Given the description of an element on the screen output the (x, y) to click on. 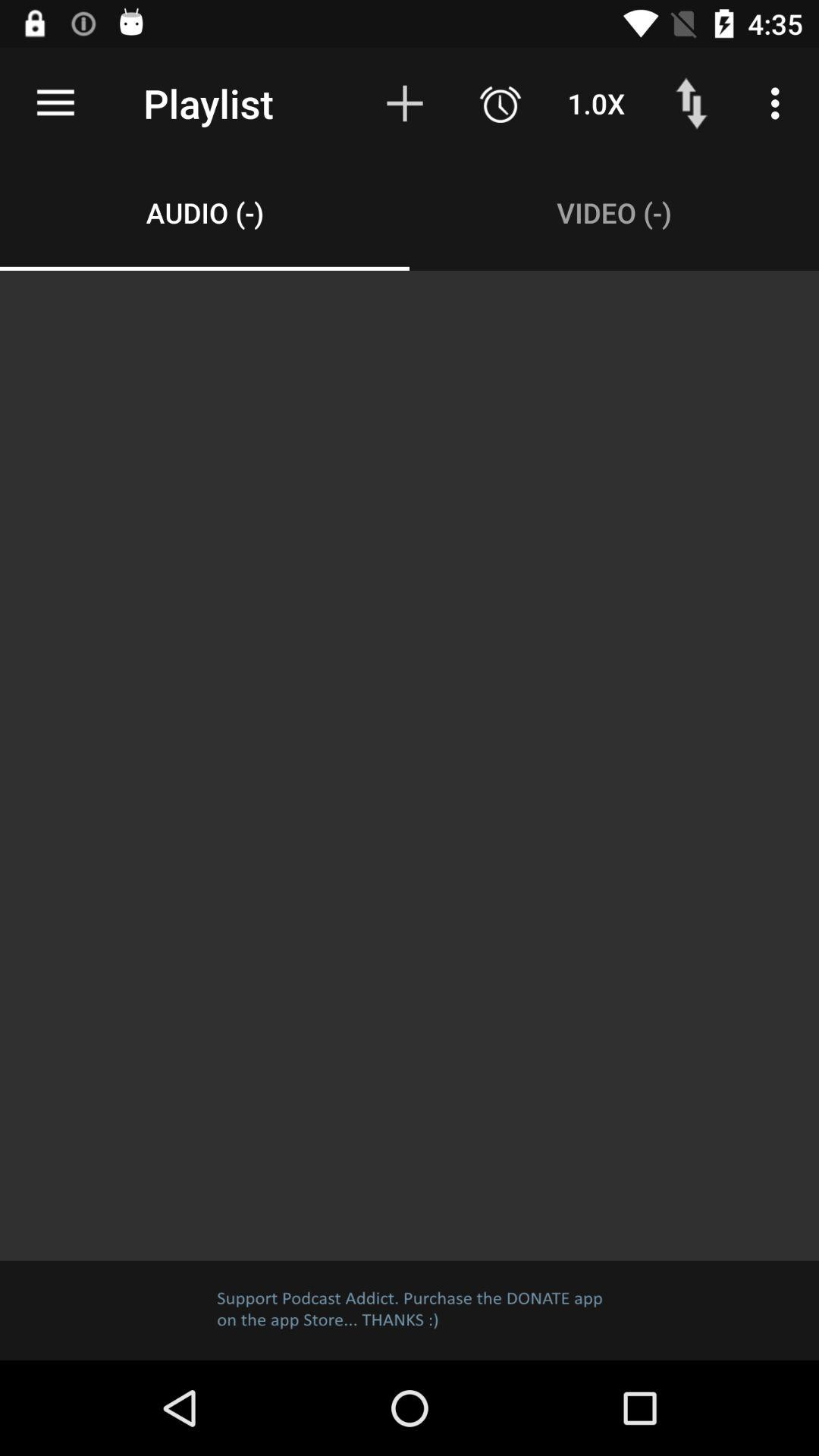
scroll to the audio (-) item (204, 212)
